Given the description of an element on the screen output the (x, y) to click on. 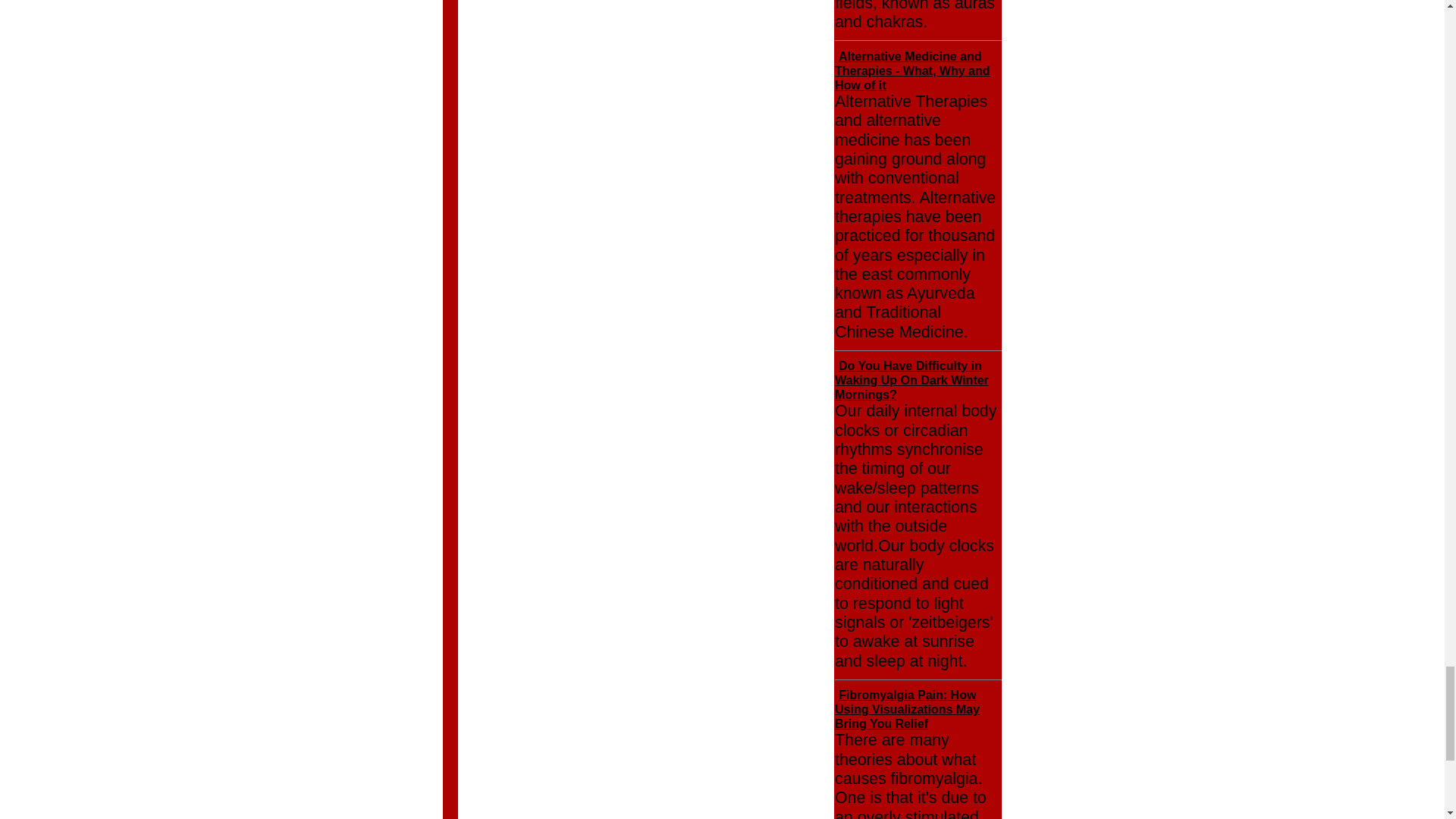
Do You Have Difficulty in Waking Up On Dark Winter Mornings? (911, 380)
Alternative Medicine and Therapies - What, Why and How of it (912, 70)
